Given the description of an element on the screen output the (x, y) to click on. 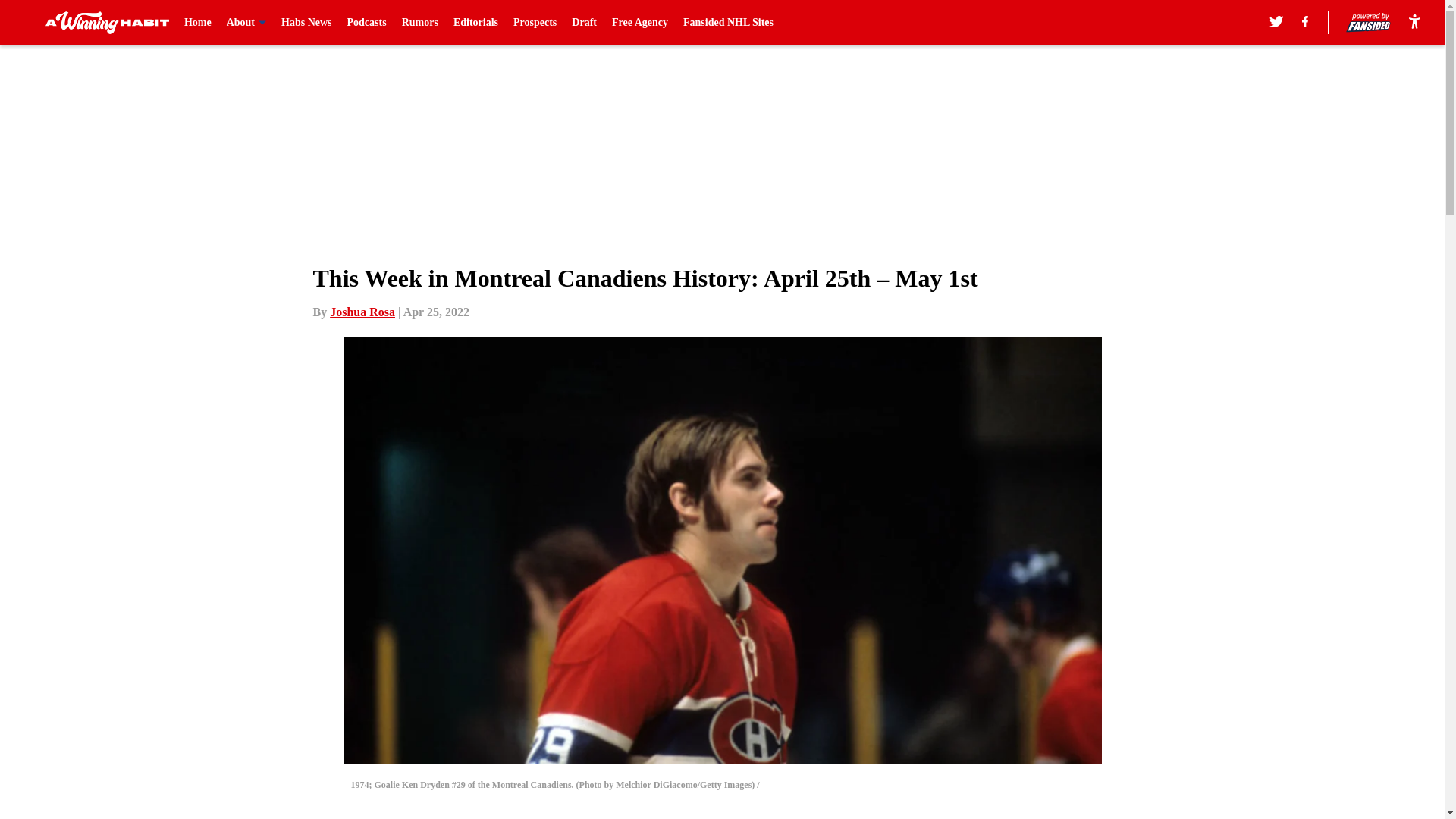
Prospects (534, 22)
Fansided NHL Sites (727, 22)
Habs News (306, 22)
Free Agency (639, 22)
Joshua Rosa (362, 311)
Rumors (419, 22)
Podcasts (367, 22)
Draft (584, 22)
Editorials (474, 22)
Home (197, 22)
